Given the description of an element on the screen output the (x, y) to click on. 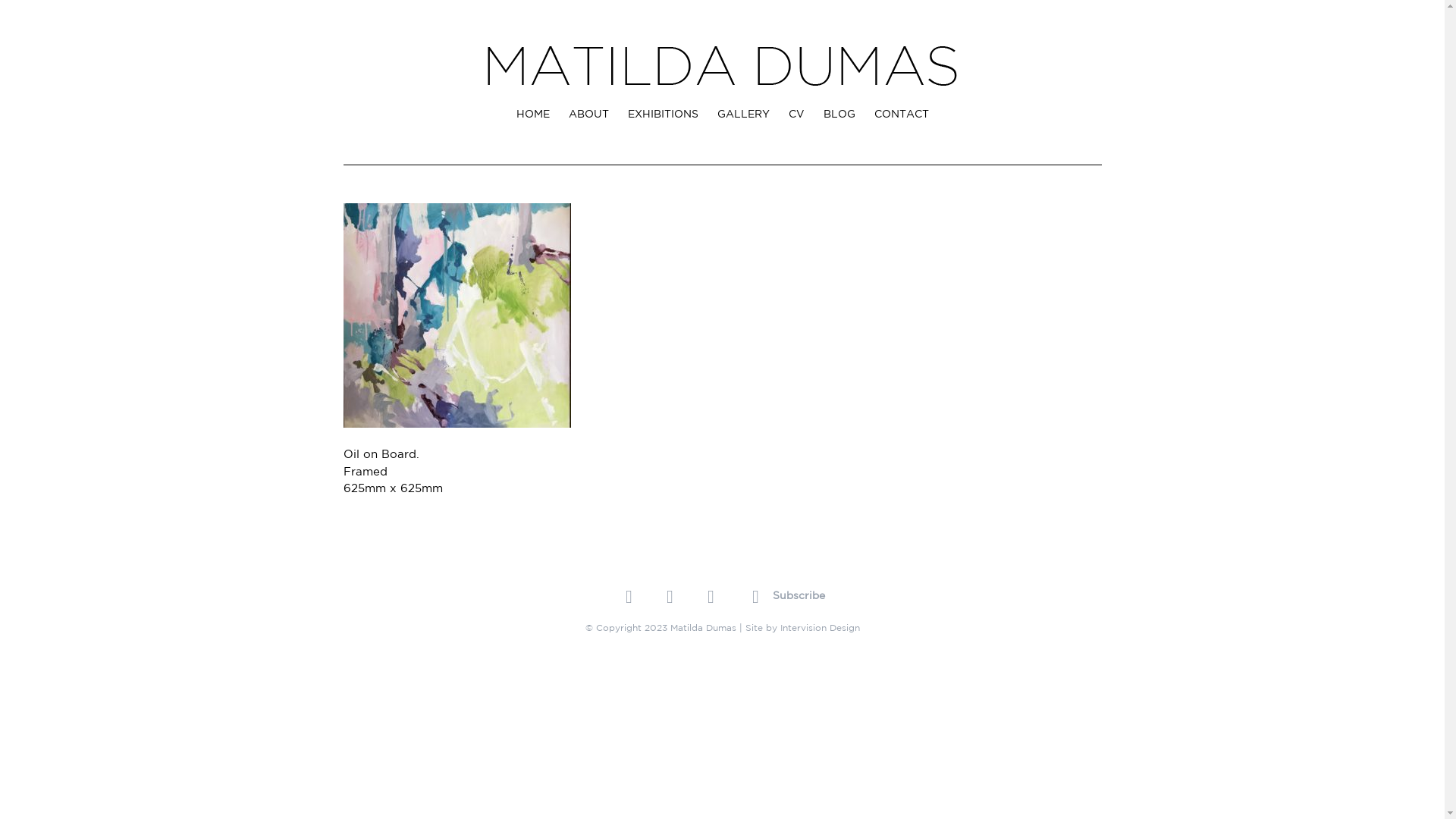
EXHIBITIONS Element type: text (663, 113)
CV Element type: text (796, 113)
ABOUT Element type: text (588, 113)
GALLERY Element type: text (743, 113)
Subscribe Element type: text (785, 597)
BLOG Element type: text (838, 113)
Intervision Design Element type: text (819, 627)
CONTACT Element type: text (900, 113)
HOME Element type: text (532, 113)
